Given the description of an element on the screen output the (x, y) to click on. 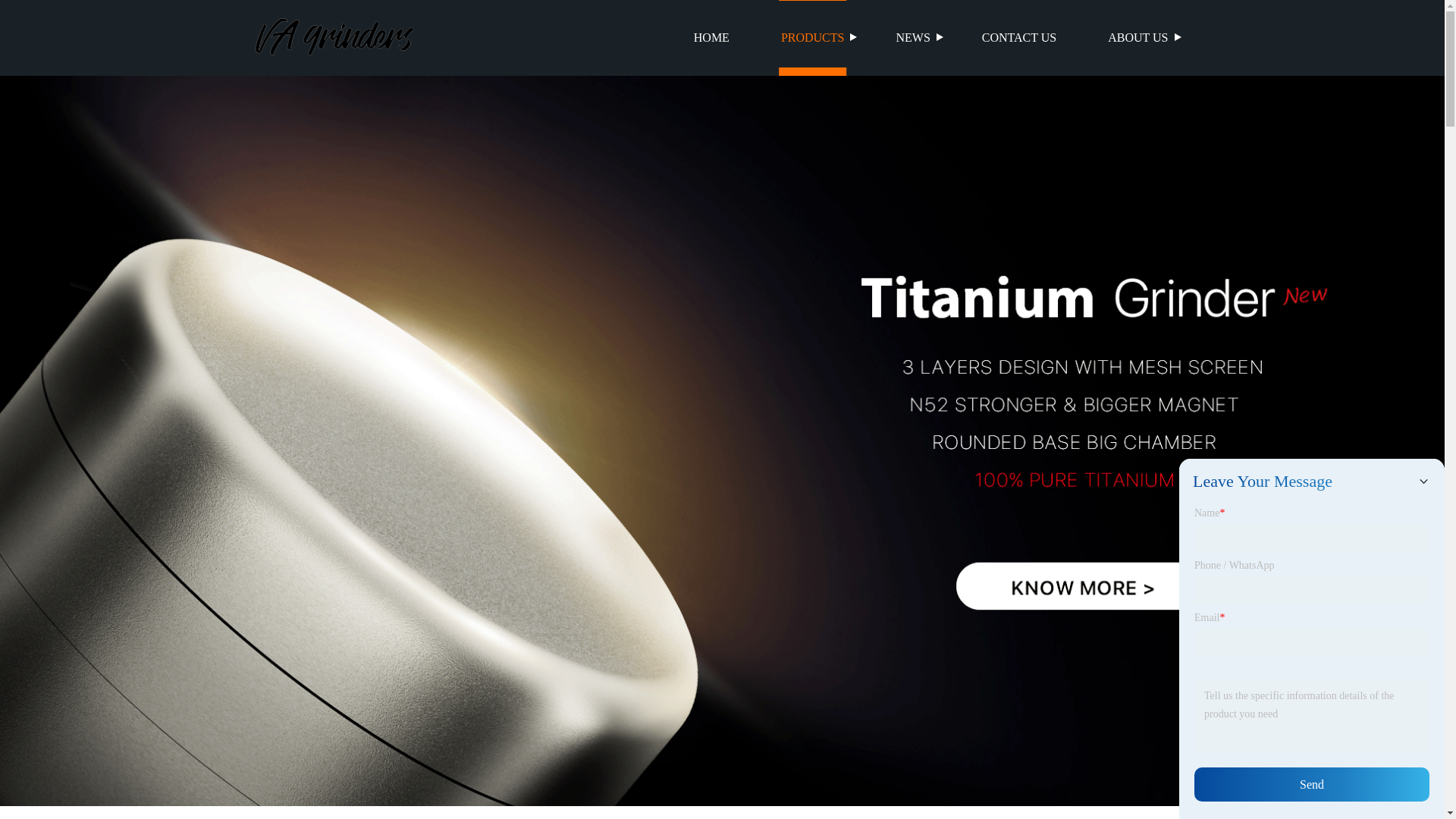
PRODUCTS (812, 38)
CONTACT US (1018, 38)
